Given the description of an element on the screen output the (x, y) to click on. 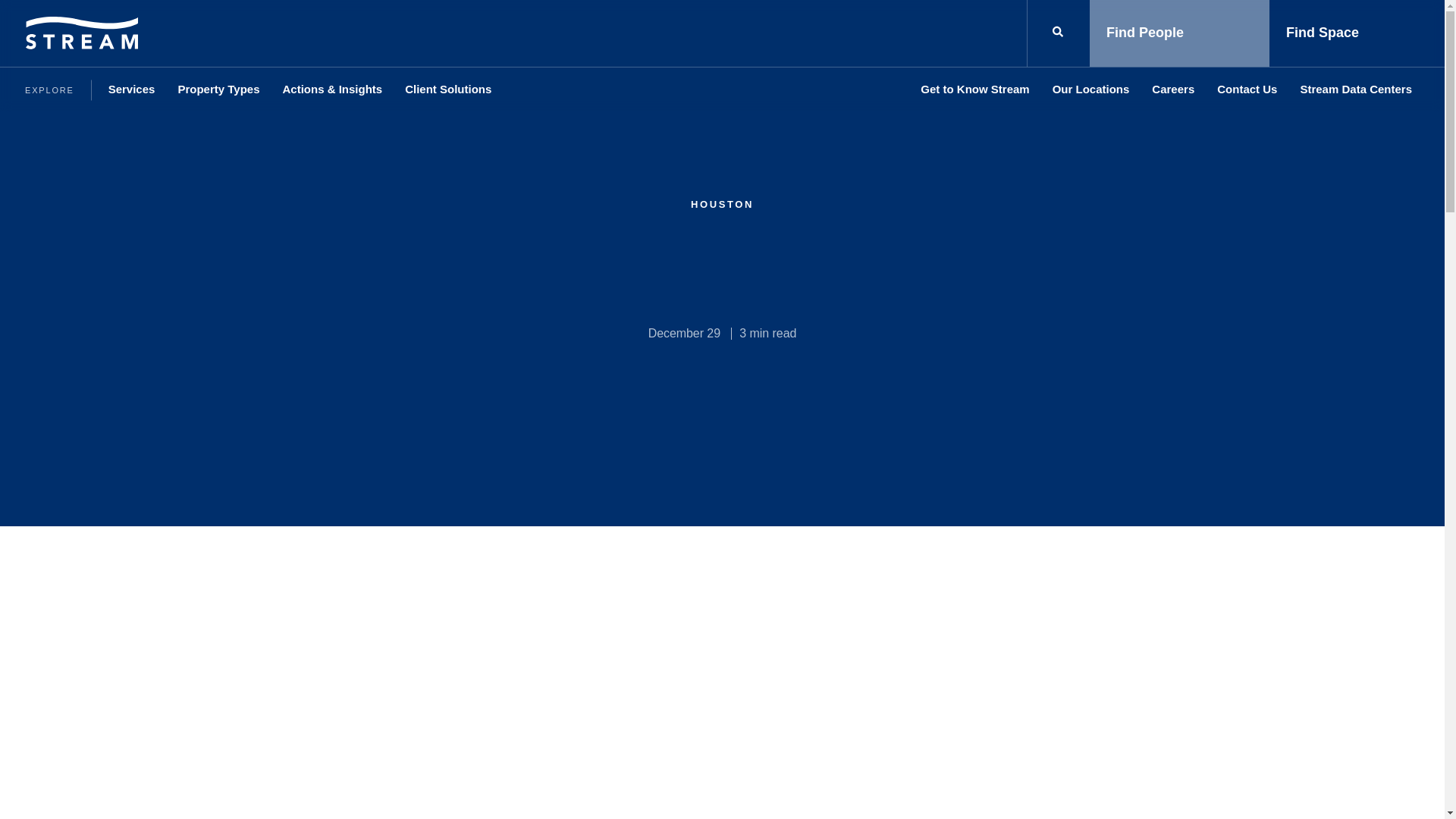
Property Types (217, 89)
Services (132, 89)
Find People (1179, 33)
